Given the description of an element on the screen output the (x, y) to click on. 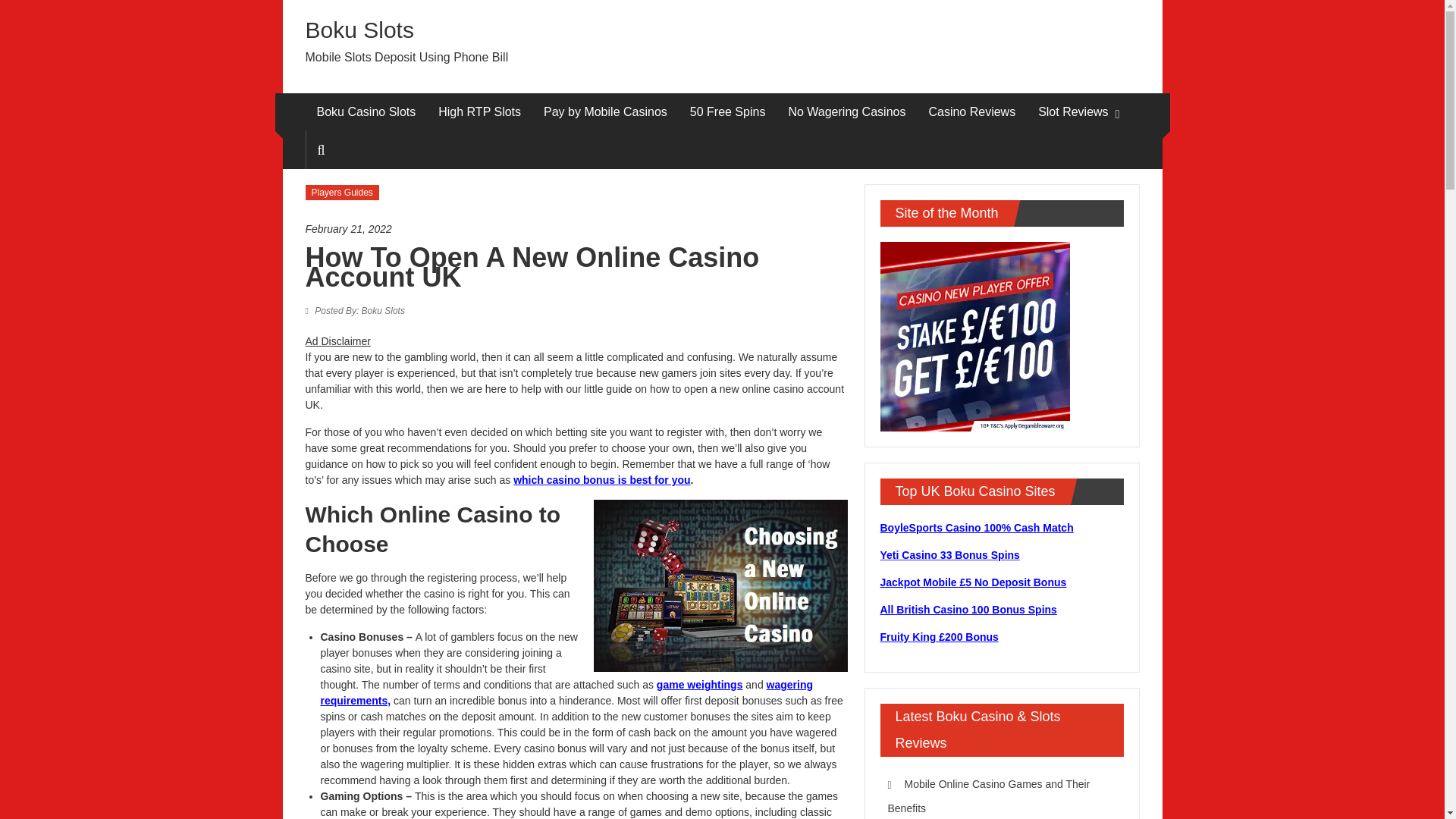
Posted By: Boku Slots (358, 310)
No Wagering Casinos (846, 112)
Pay by Mobile Casinos (604, 112)
Boku Slots (358, 310)
Slot Reviews (1073, 112)
Players Guides (341, 192)
High RTP Slots (479, 112)
50 Free Spins (727, 112)
Boku Slots (358, 29)
Boku Slots (358, 29)
